Given the description of an element on the screen output the (x, y) to click on. 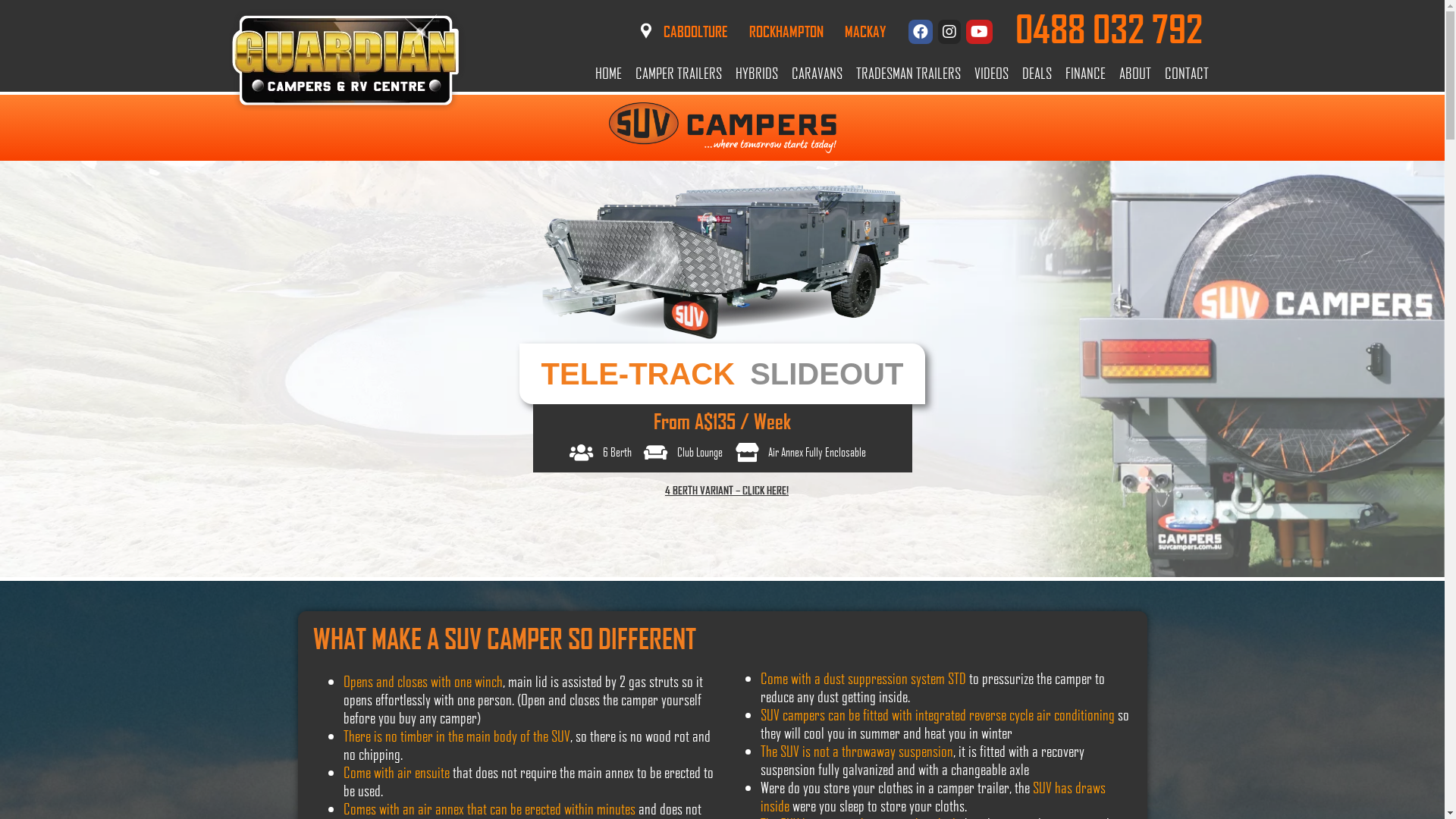
MACKAY Element type: text (864, 32)
HYBRIDS Element type: text (756, 72)
0488 032 792 Element type: text (1107, 29)
FINANCE Element type: text (1085, 72)
DEALS Element type: text (1035, 72)
ROCKHAMPTON Element type: text (786, 32)
CABOOLTURE Element type: text (694, 32)
TRADESMAN TRAILERS Element type: text (908, 72)
CARAVANS Element type: text (816, 72)
CONTACT Element type: text (1185, 72)
ABOUT Element type: text (1134, 72)
HOME Element type: text (608, 72)
CAMPER TRAILERS Element type: text (677, 72)
VIDEOS Element type: text (991, 72)
